Given the description of an element on the screen output the (x, y) to click on. 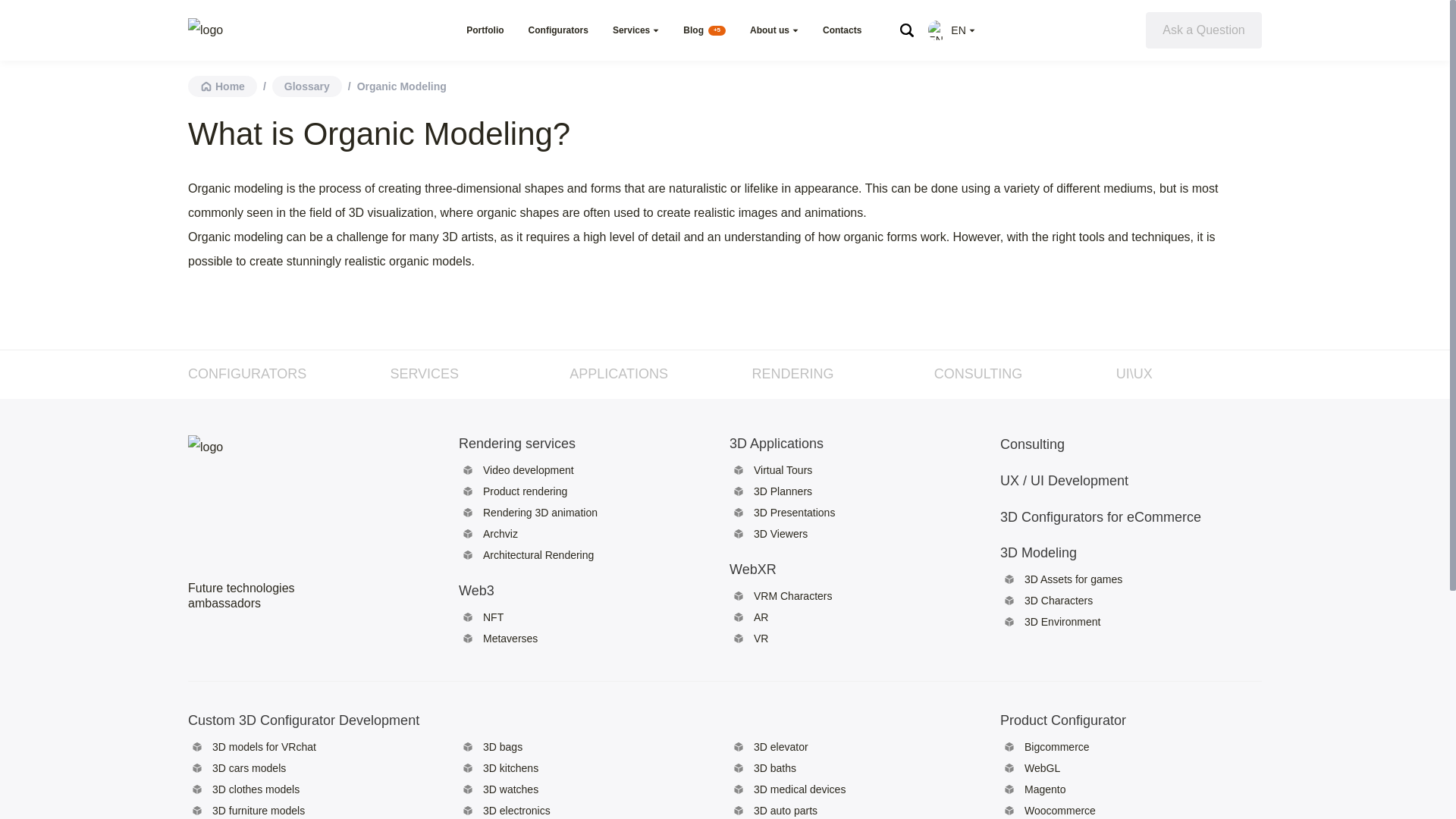
Home (222, 86)
RENDERING (791, 373)
Product rendering (525, 491)
Video development (528, 469)
Configurators (558, 29)
Rendering services (539, 443)
CONFIGURATORS (246, 373)
About us (769, 29)
Ask a Question (1203, 30)
Services (630, 29)
Contacts (841, 29)
Web3 (539, 590)
APPLICATIONS (618, 373)
Portfolio (484, 29)
NFT (493, 616)
